Given the description of an element on the screen output the (x, y) to click on. 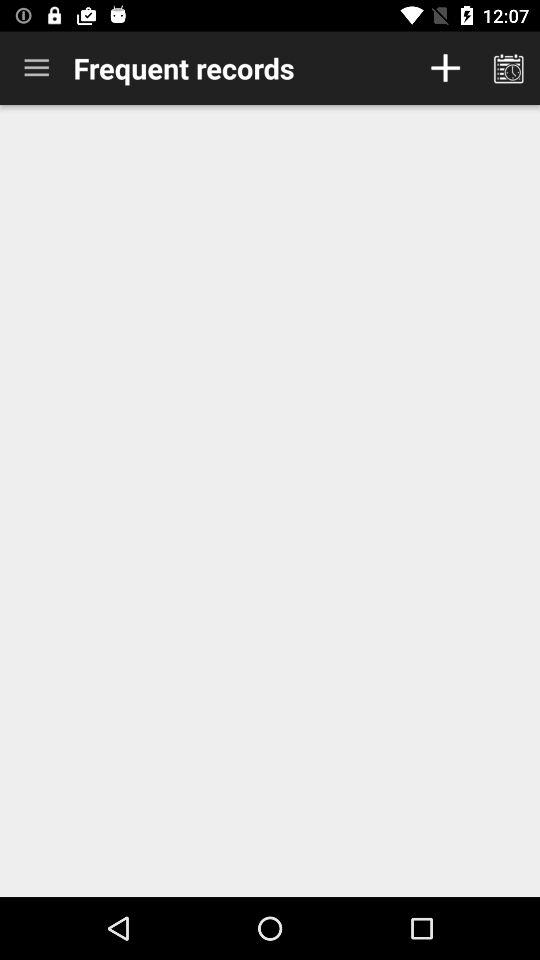
open calendar (508, 67)
